Given the description of an element on the screen output the (x, y) to click on. 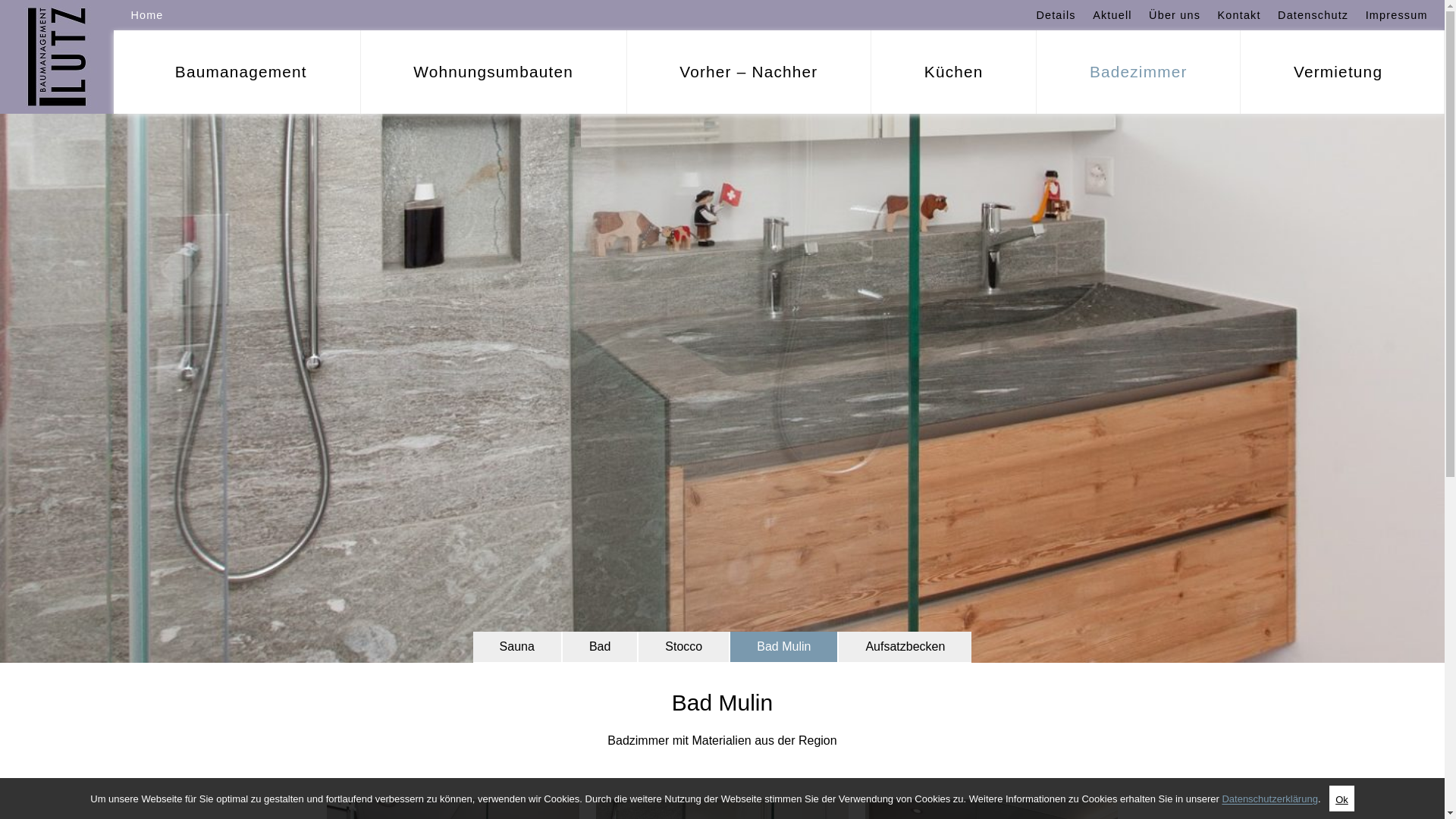
Aufsatzbecken Element type: text (904, 646)
Kontakt Element type: text (1238, 15)
Aktuell Element type: text (1112, 15)
Bad Mulin Element type: text (783, 646)
Bad Element type: text (599, 646)
Datenschutz Element type: text (1313, 15)
Details Element type: text (1051, 15)
Stocco Element type: text (683, 646)
Impressum Element type: text (1400, 15)
Home Element type: text (146, 15)
Vermietung Element type: text (1341, 71)
Badezimmer Element type: text (1137, 71)
Baumanagement Element type: text (236, 71)
Sauna Element type: text (517, 646)
Ok Element type: text (1341, 798)
Wohnungsumbauten Element type: text (493, 71)
